Given the description of an element on the screen output the (x, y) to click on. 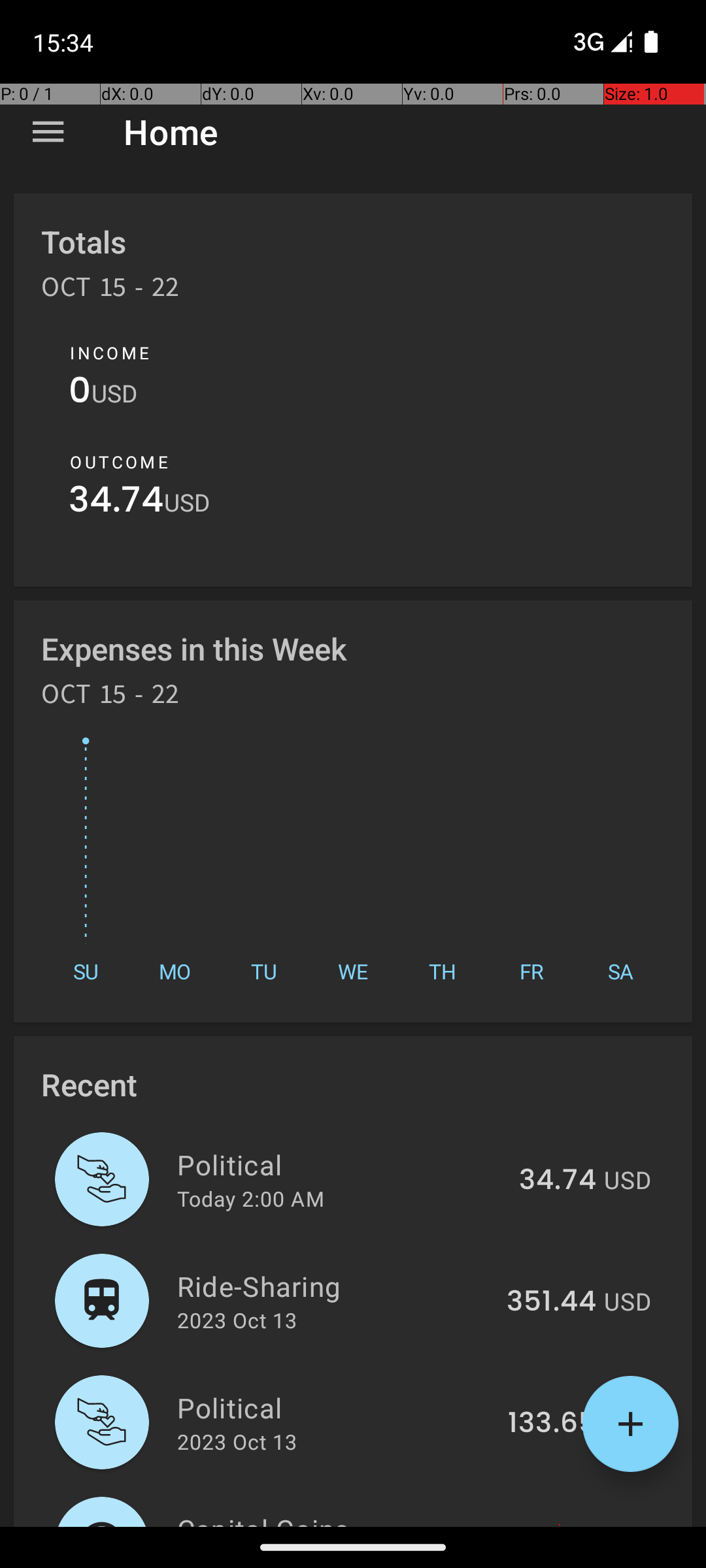
Totals Element type: android.widget.TextView (83, 240)
OCT 15 - 22 Element type: android.widget.TextView (110, 291)
INCOME Element type: android.widget.TextView (109, 352)
OUTCOME Element type: android.widget.TextView (118, 461)
34.74 Element type: android.widget.TextView (116, 502)
Expenses in this Week Element type: android.widget.TextView (194, 648)
Political Element type: android.widget.TextView (340, 1164)
Today 2:00 AM Element type: android.widget.TextView (250, 1198)
Ride-Sharing Element type: android.widget.TextView (334, 1285)
2023 Oct 13 Element type: android.widget.TextView (236, 1320)
351.44 Element type: android.widget.TextView (550, 1301)
133.65 Element type: android.widget.TextView (551, 1423)
Capital Gains Element type: android.widget.TextView (342, 1518)
498.1 Element type: android.widget.TextView (559, 1524)
